Given the description of an element on the screen output the (x, y) to click on. 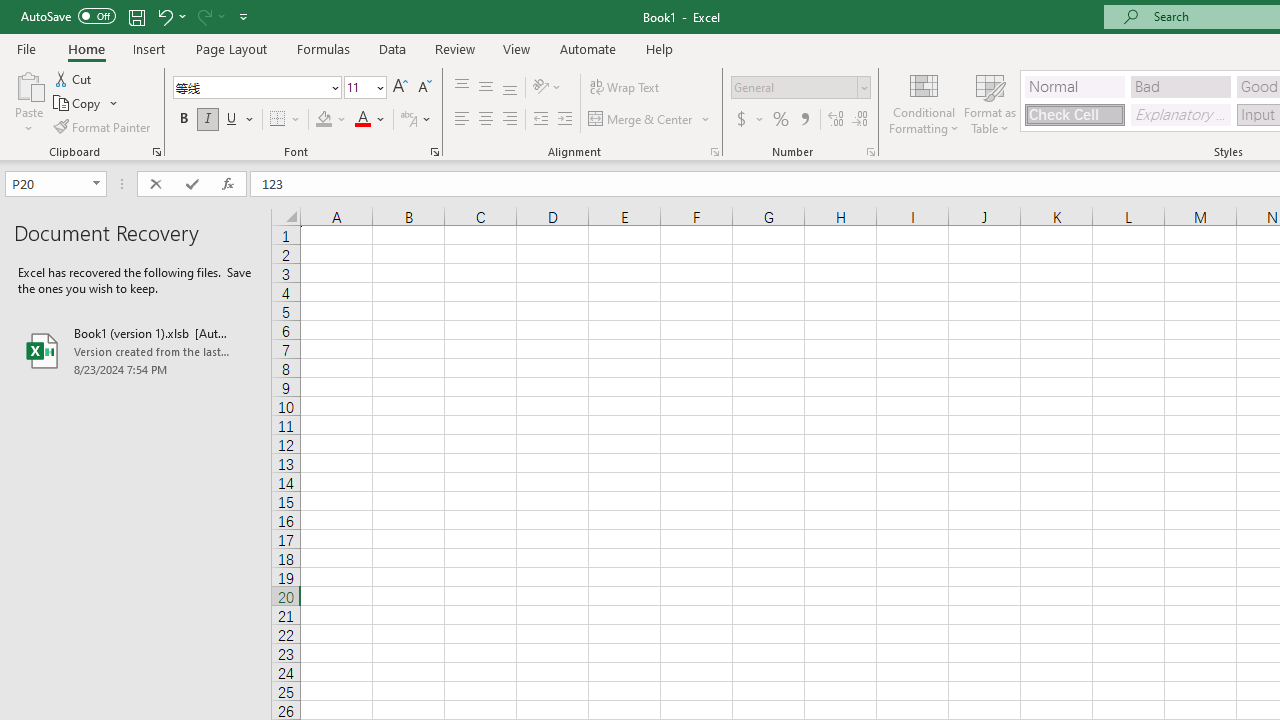
Help (660, 48)
Data (392, 48)
Open (96, 183)
Number Format (800, 87)
Underline (239, 119)
Align Right (509, 119)
Font Color RGB(255, 0, 0) (362, 119)
Bottom Border (278, 119)
Formulas (323, 48)
Middle Align (485, 87)
Increase Indent (565, 119)
Format Painter (103, 126)
File Tab (26, 48)
